Given the description of an element on the screen output the (x, y) to click on. 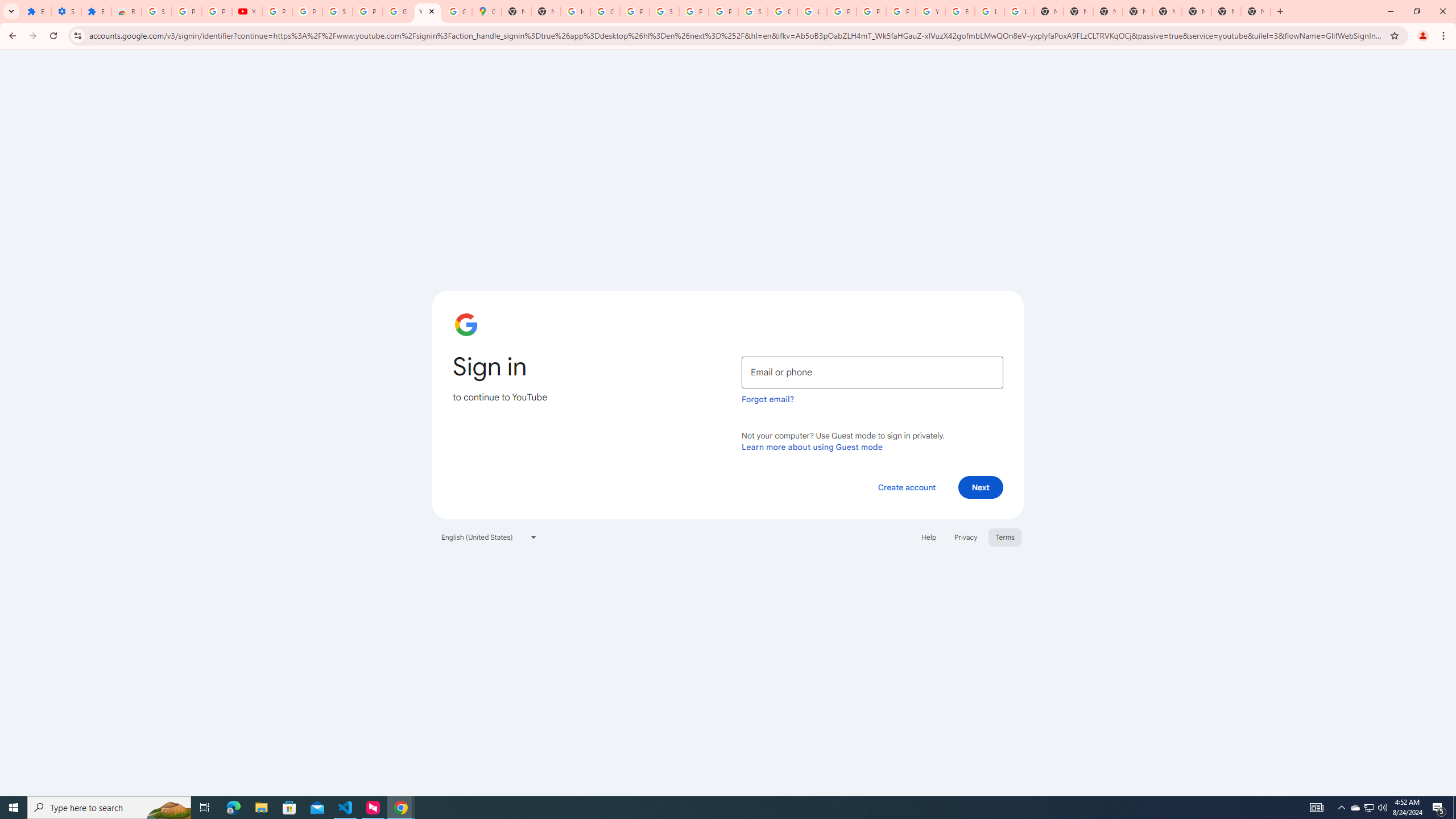
Learn more about using Guest mode (812, 446)
English (United States) (489, 536)
YouTube (930, 11)
Extensions (95, 11)
